Given the description of an element on the screen output the (x, y) to click on. 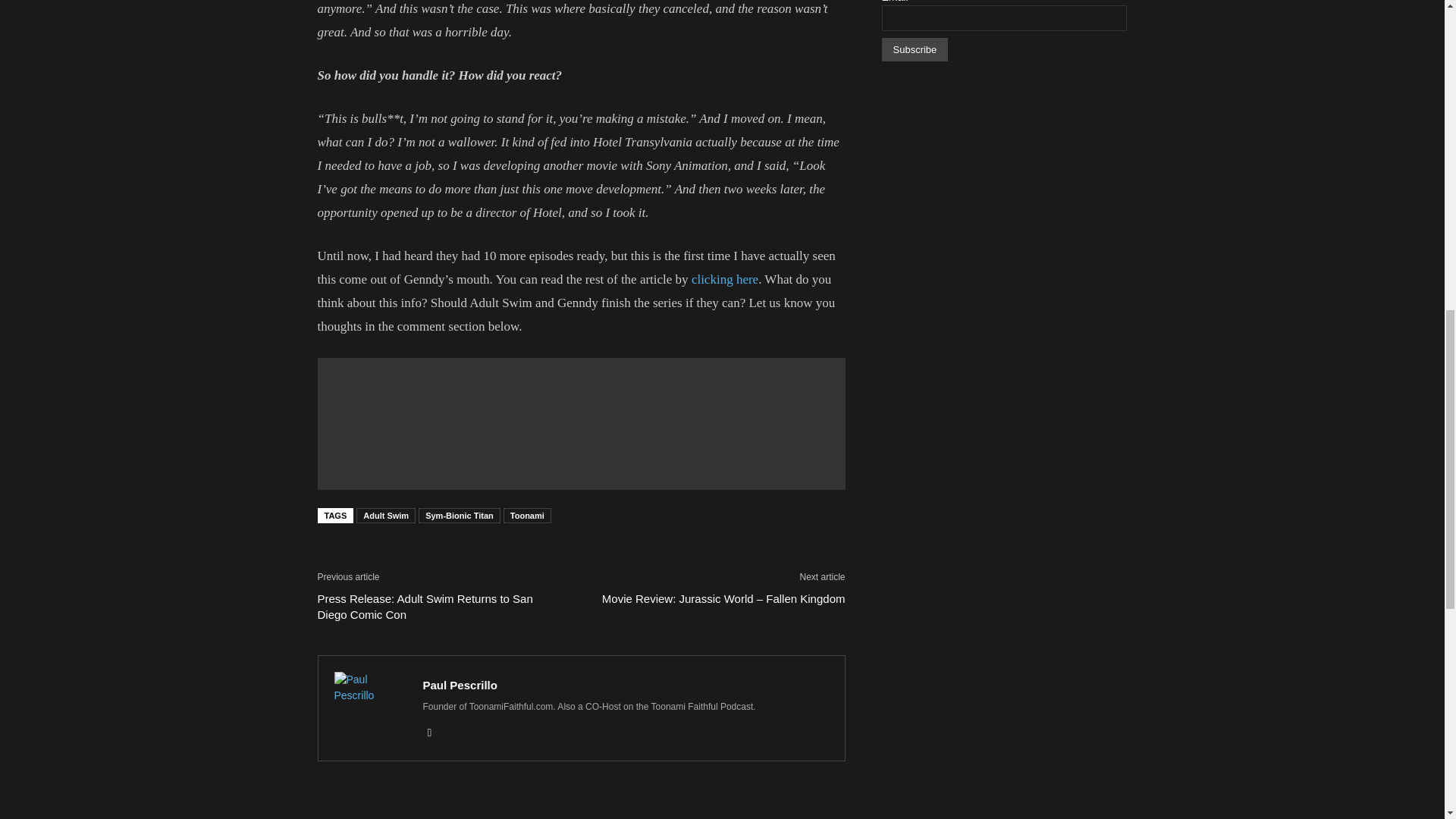
bottomFacebookLike (430, 556)
Instagram (435, 732)
Subscribe (913, 49)
